Given the description of an element on the screen output the (x, y) to click on. 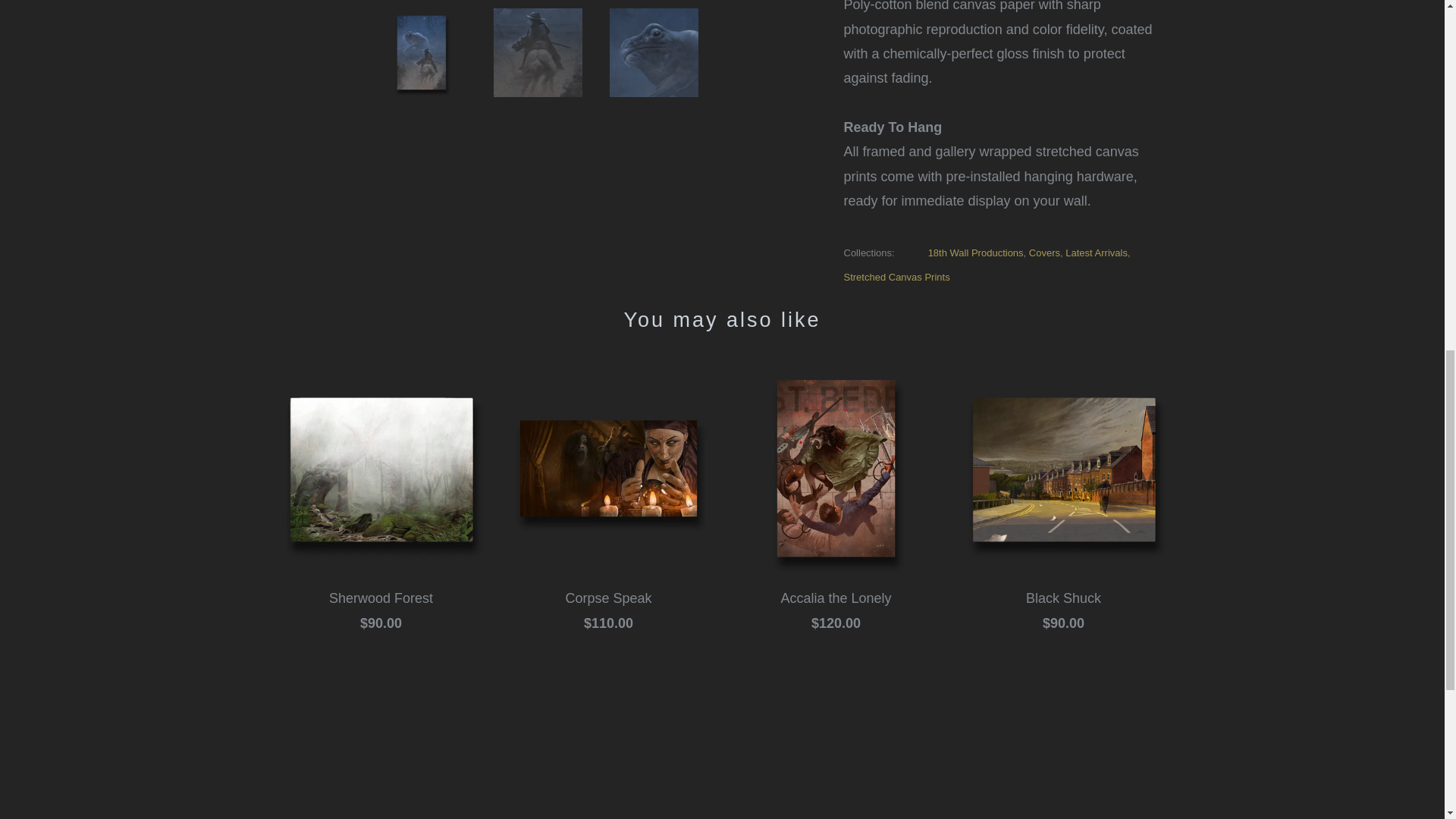
Browse Covers (1044, 252)
Browse Stretched Canvas Prints (896, 276)
Browse Latest Arrivals (1095, 252)
Covers (1044, 252)
Stretched Canvas Prints (896, 276)
18th Wall Productions (975, 252)
Browse 18th Wall Productions (975, 252)
Latest Arrivals (1095, 252)
